Given the description of an element on the screen output the (x, y) to click on. 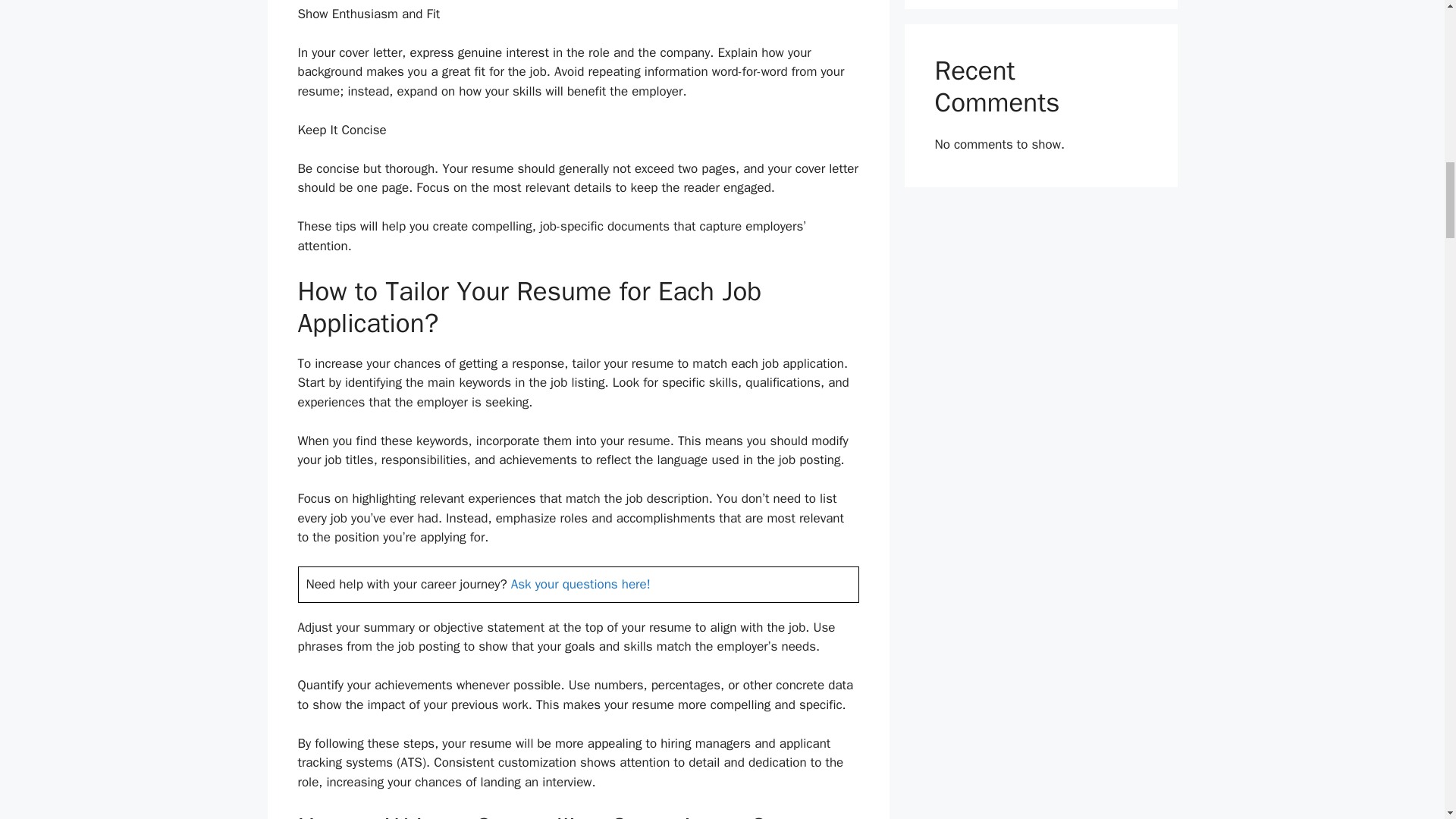
Ask your questions here! (580, 584)
